Given the description of an element on the screen output the (x, y) to click on. 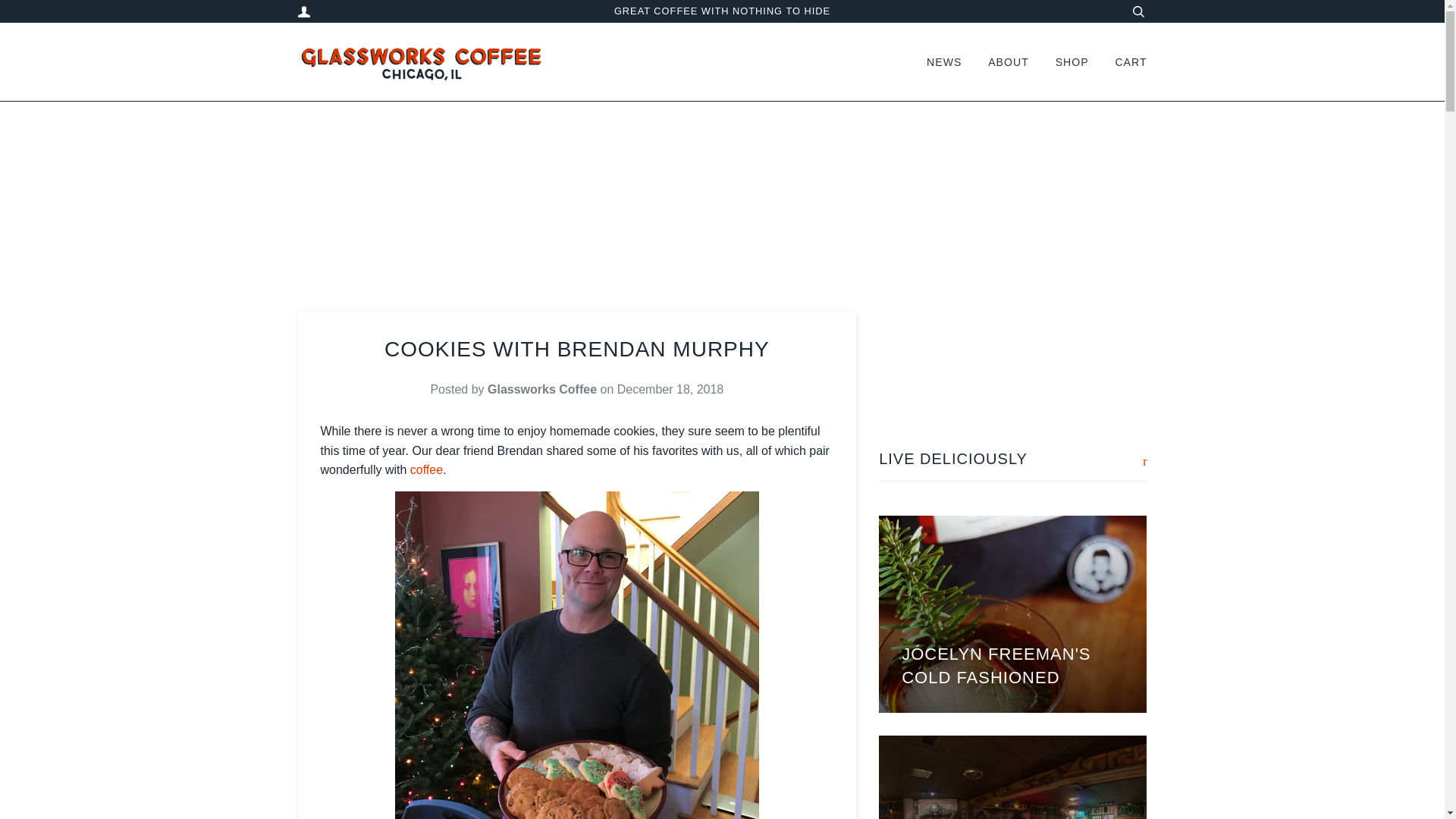
Glassworks Coffee (426, 469)
GREAT COFFEE WITH NOTHING TO HIDE (721, 10)
